Given the description of an element on the screen output the (x, y) to click on. 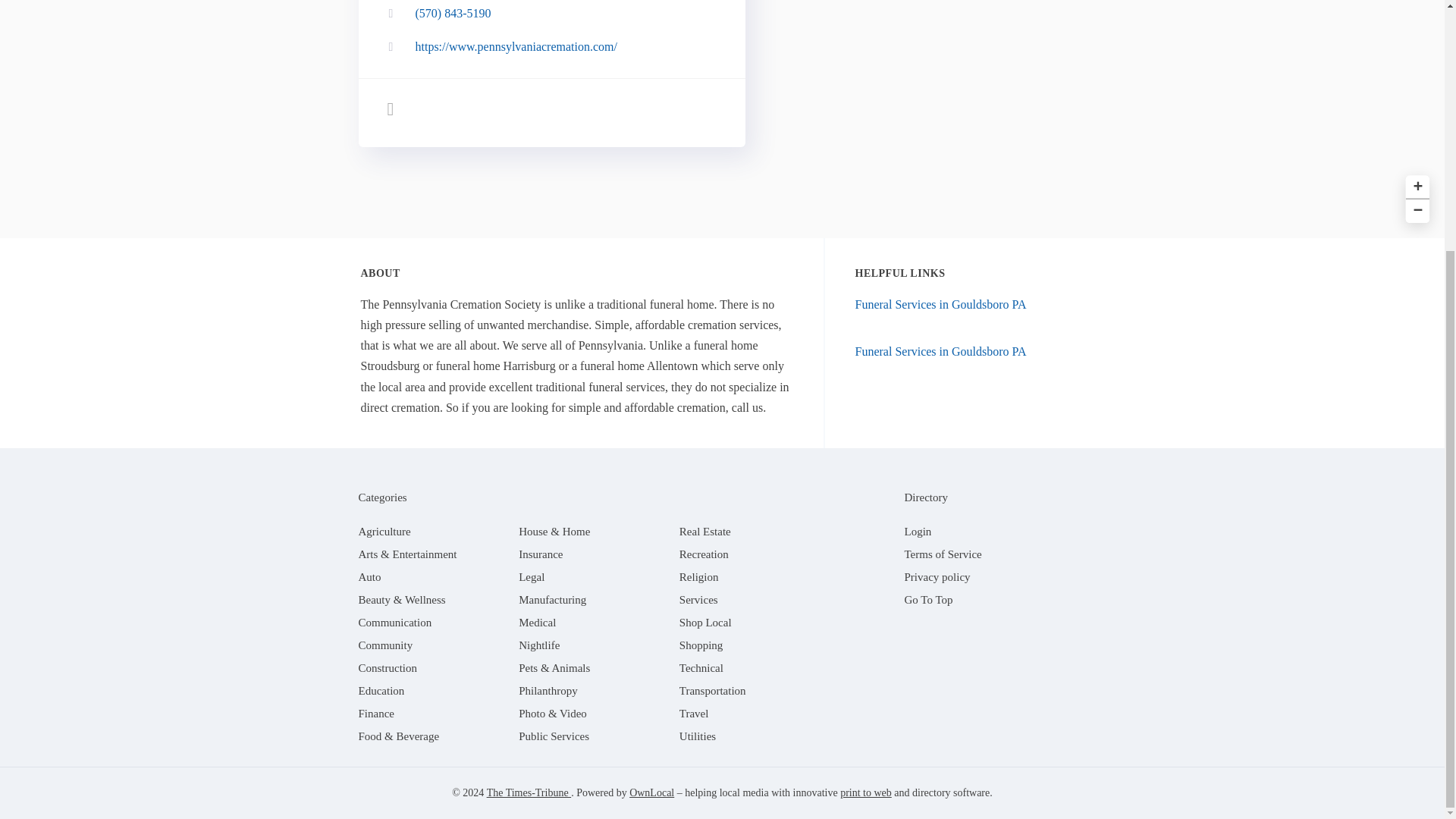
Manufacturing (552, 599)
Funeral Services in Gouldsboro PA (941, 304)
Construction (387, 667)
Insurance (540, 553)
Public Services (553, 736)
Nightlife (538, 645)
translation missing: en.login (917, 531)
Funeral Services in Gouldsboro PA (941, 350)
Zoom out (1415, 209)
Community (385, 645)
